Given the description of an element on the screen output the (x, y) to click on. 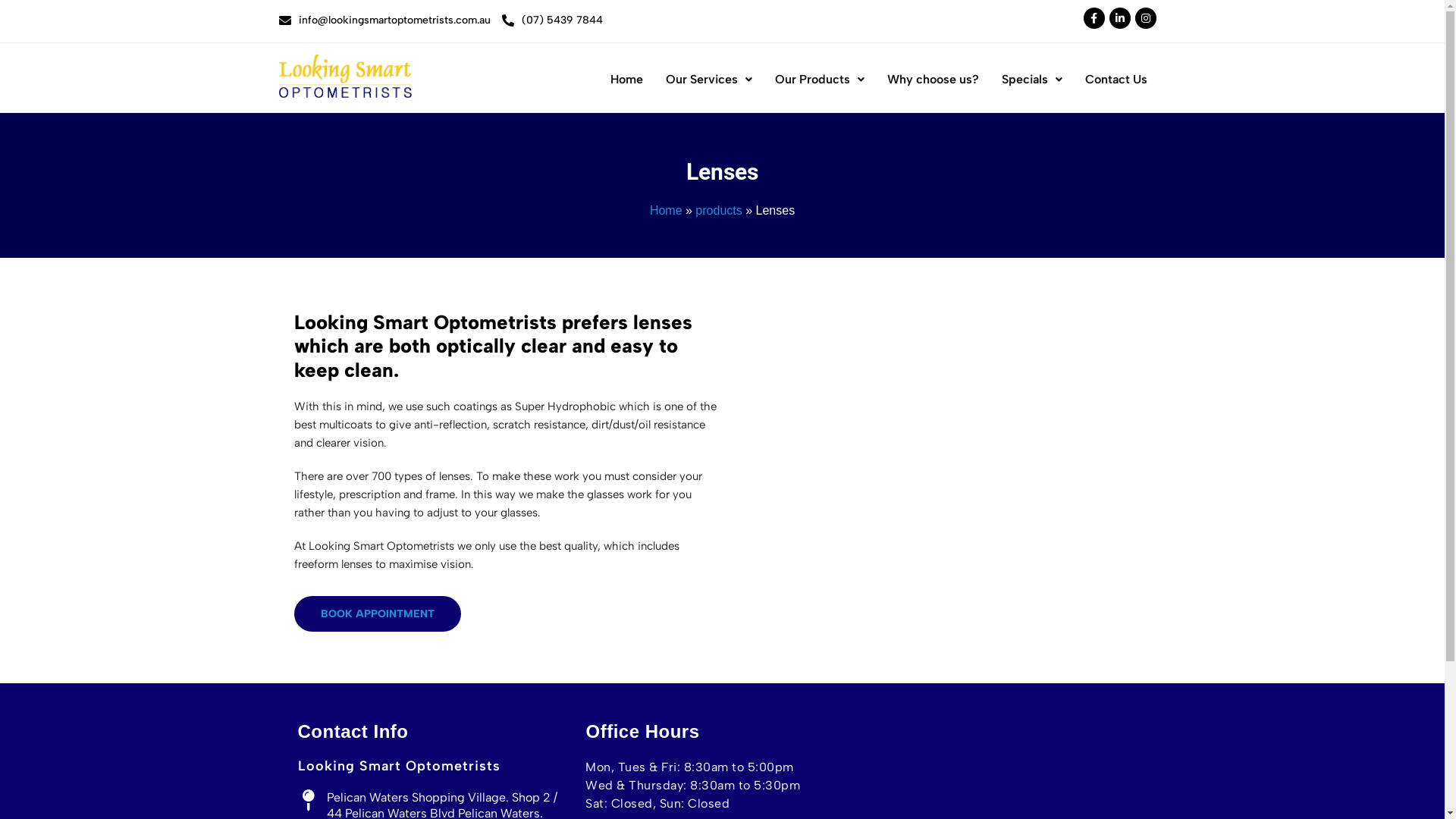
BOOK APPOINTMENT Element type: text (377, 613)
Skip to content Element type: text (15, 31)
info@lookingsmartoptometrists.com.au Element type: text (394, 19)
Why choose us? Element type: text (932, 79)
Lenses Element type: text (721, 171)
Contact Us Element type: text (1115, 79)
Our Services Element type: text (707, 79)
(07) 5439 7844 Element type: text (561, 19)
Our Products Element type: text (818, 79)
Home Element type: text (626, 79)
Home Element type: text (665, 209)
Specials Element type: text (1031, 79)
products Element type: text (718, 209)
